Given the description of an element on the screen output the (x, y) to click on. 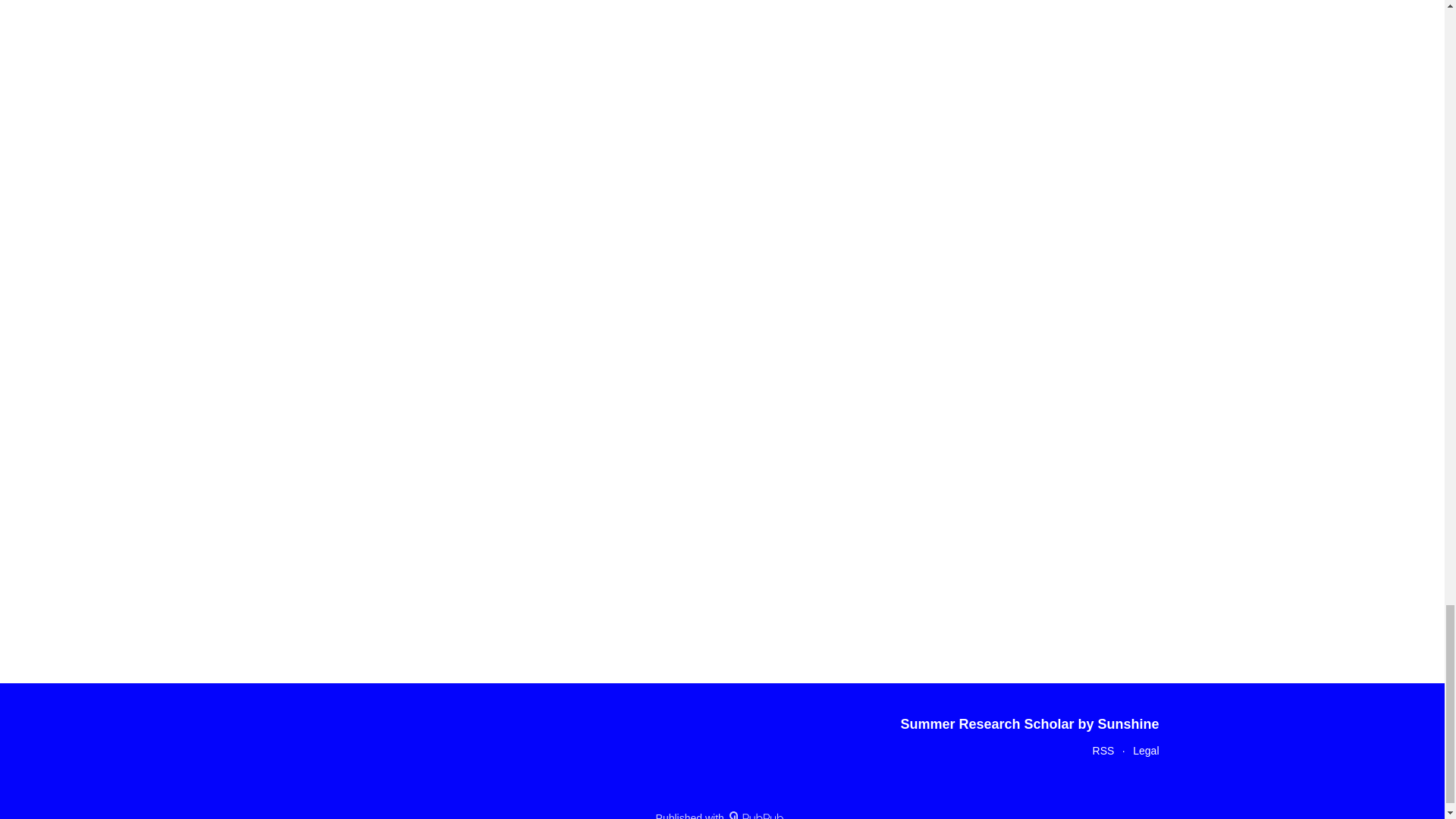
Legal (1145, 750)
RSS (1104, 750)
Published with (722, 815)
Summer Research Scholar by Sunshine (1028, 724)
